Given the description of an element on the screen output the (x, y) to click on. 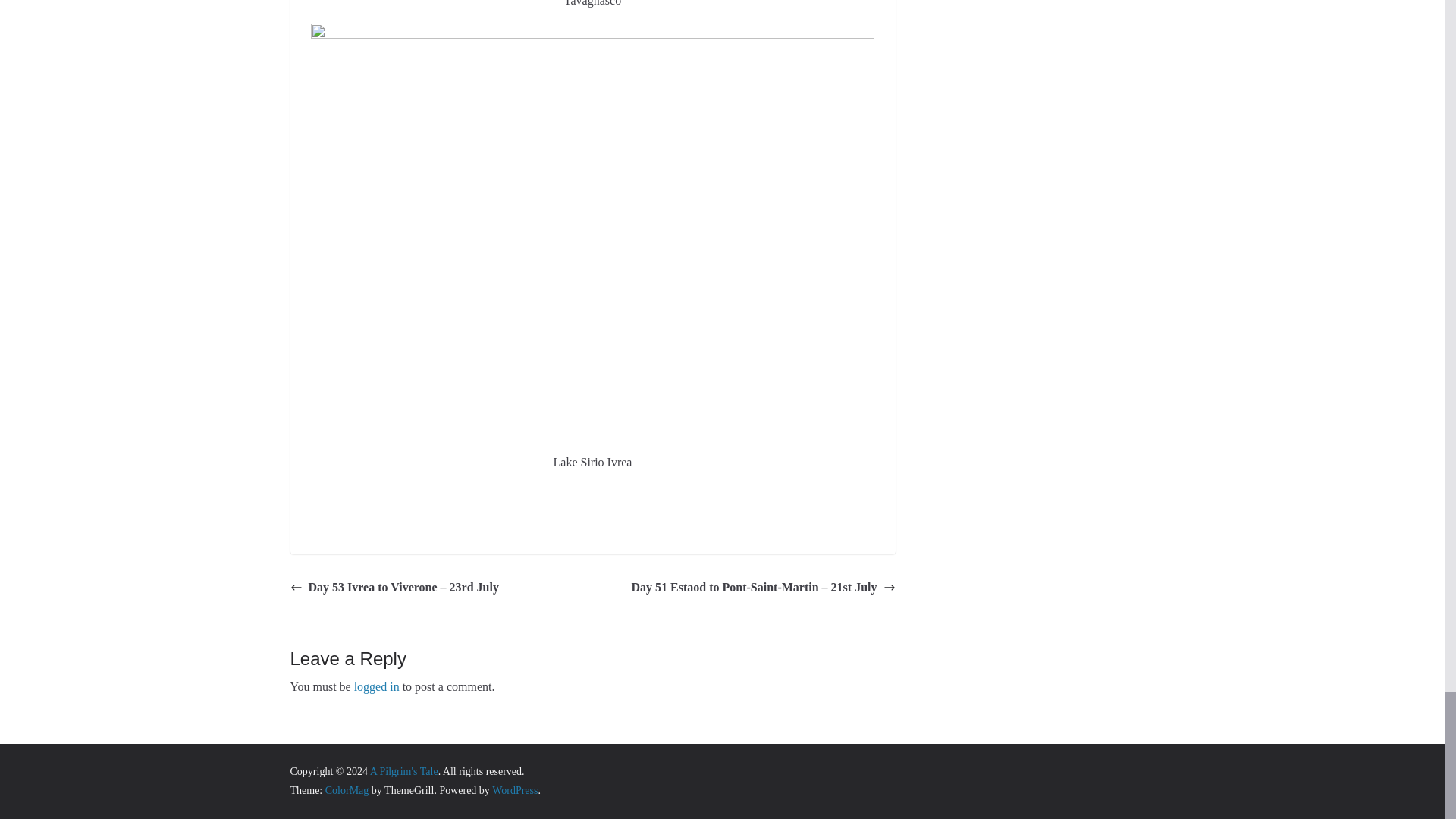
logged in (375, 686)
A Pilgrim's Tale (403, 771)
ColorMag (346, 790)
WordPress (514, 790)
